Given the description of an element on the screen output the (x, y) to click on. 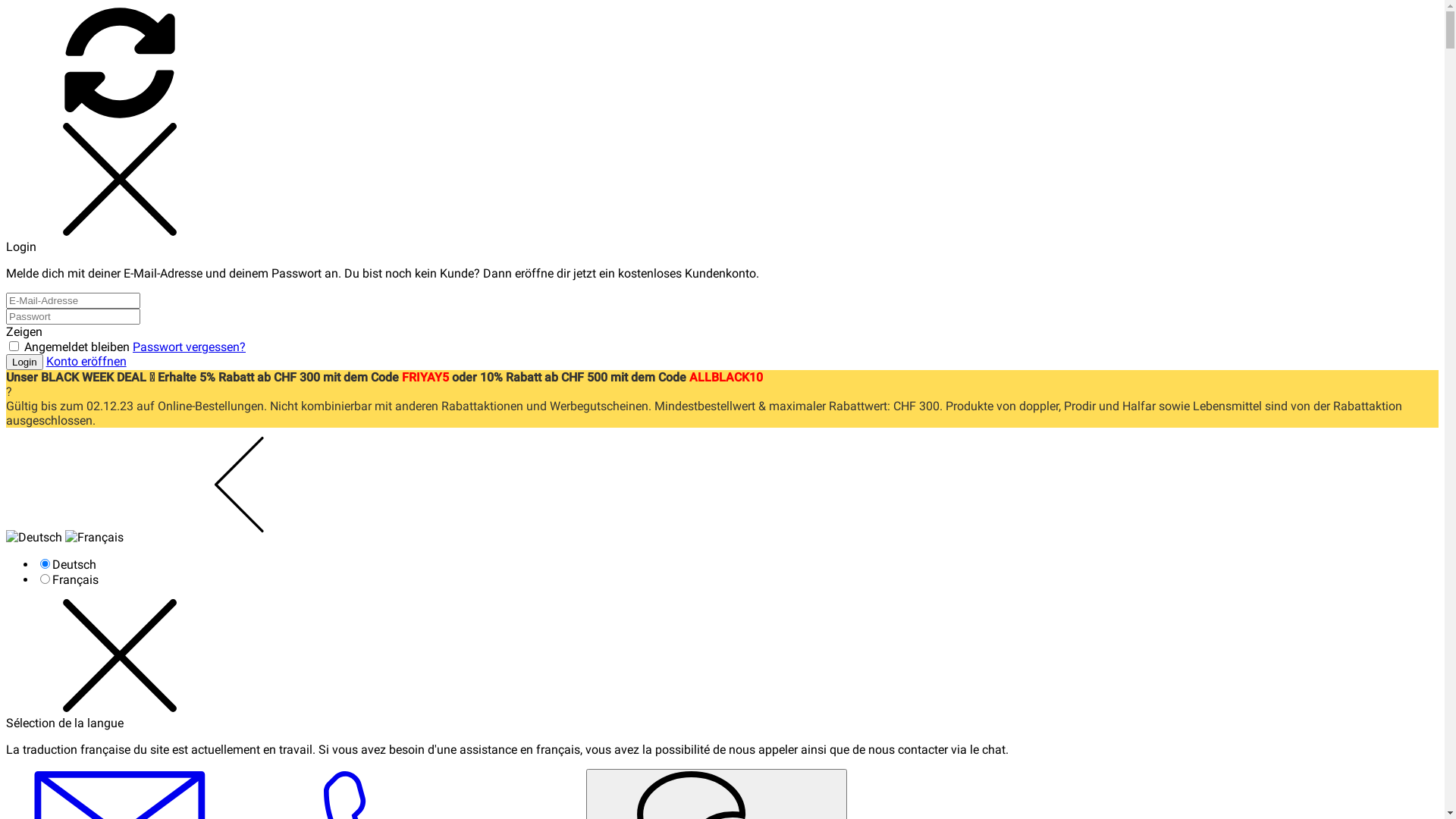
Passwort vergessen? Element type: text (188, 346)
Login Element type: text (24, 362)
